Given the description of an element on the screen output the (x, y) to click on. 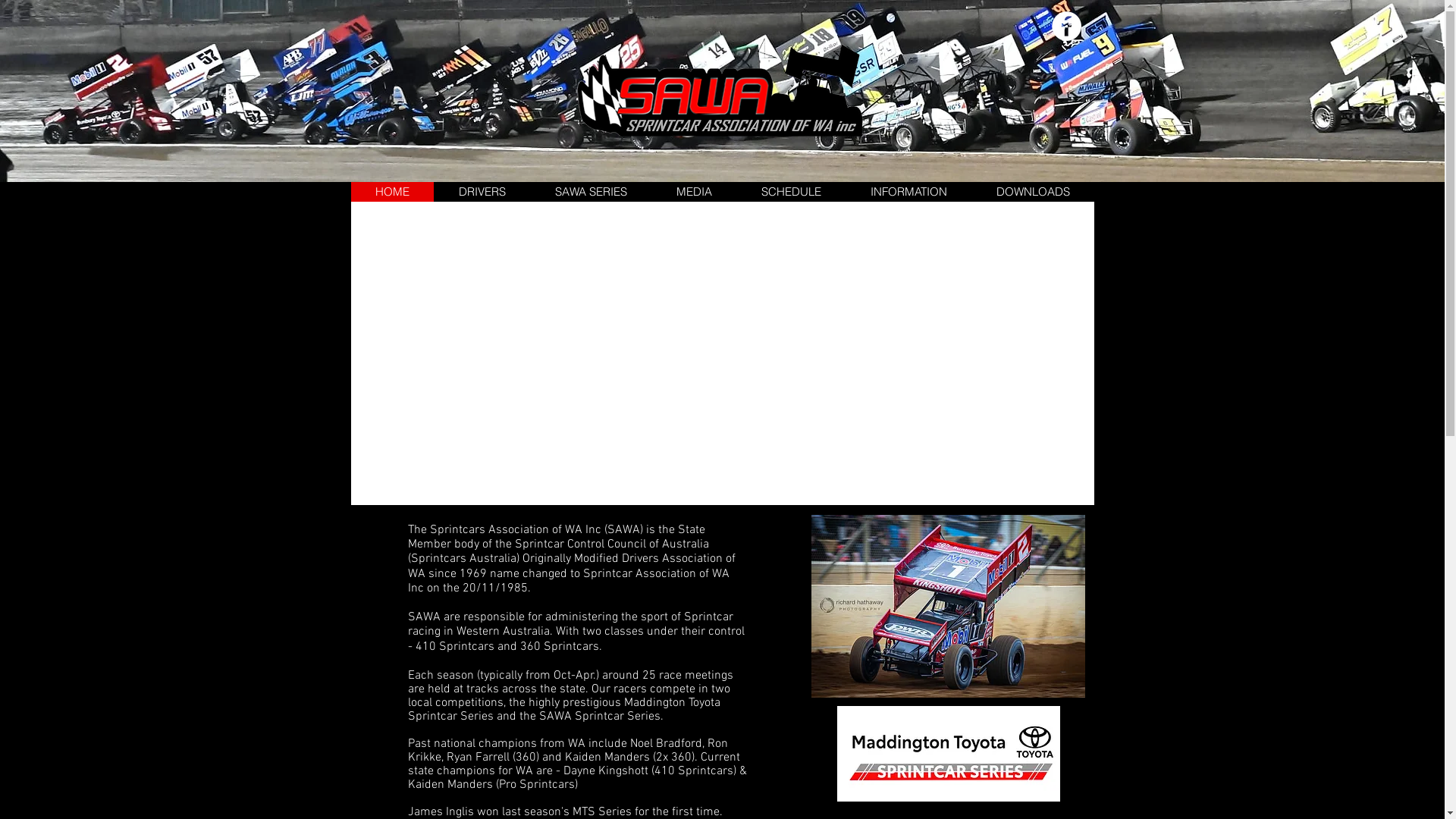
MEDIA Element type: text (692, 191)
SAWA SERIES Element type: text (589, 191)
DOWNLOADS Element type: text (1031, 191)
AHG-SprintSeries-Design-Front (640x427).png Element type: hover (948, 753)
DRIVERS Element type: text (481, 191)
HOME Element type: text (391, 191)
SCHEDULE Element type: text (789, 191)
INFORMATION Element type: text (907, 191)
